Given the description of an element on the screen output the (x, y) to click on. 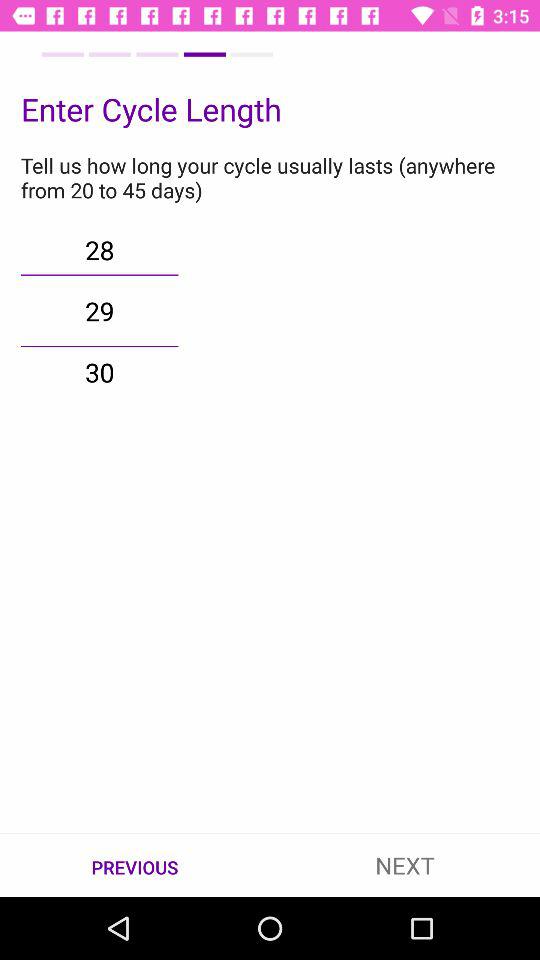
press item at the bottom right corner (405, 864)
